Given the description of an element on the screen output the (x, y) to click on. 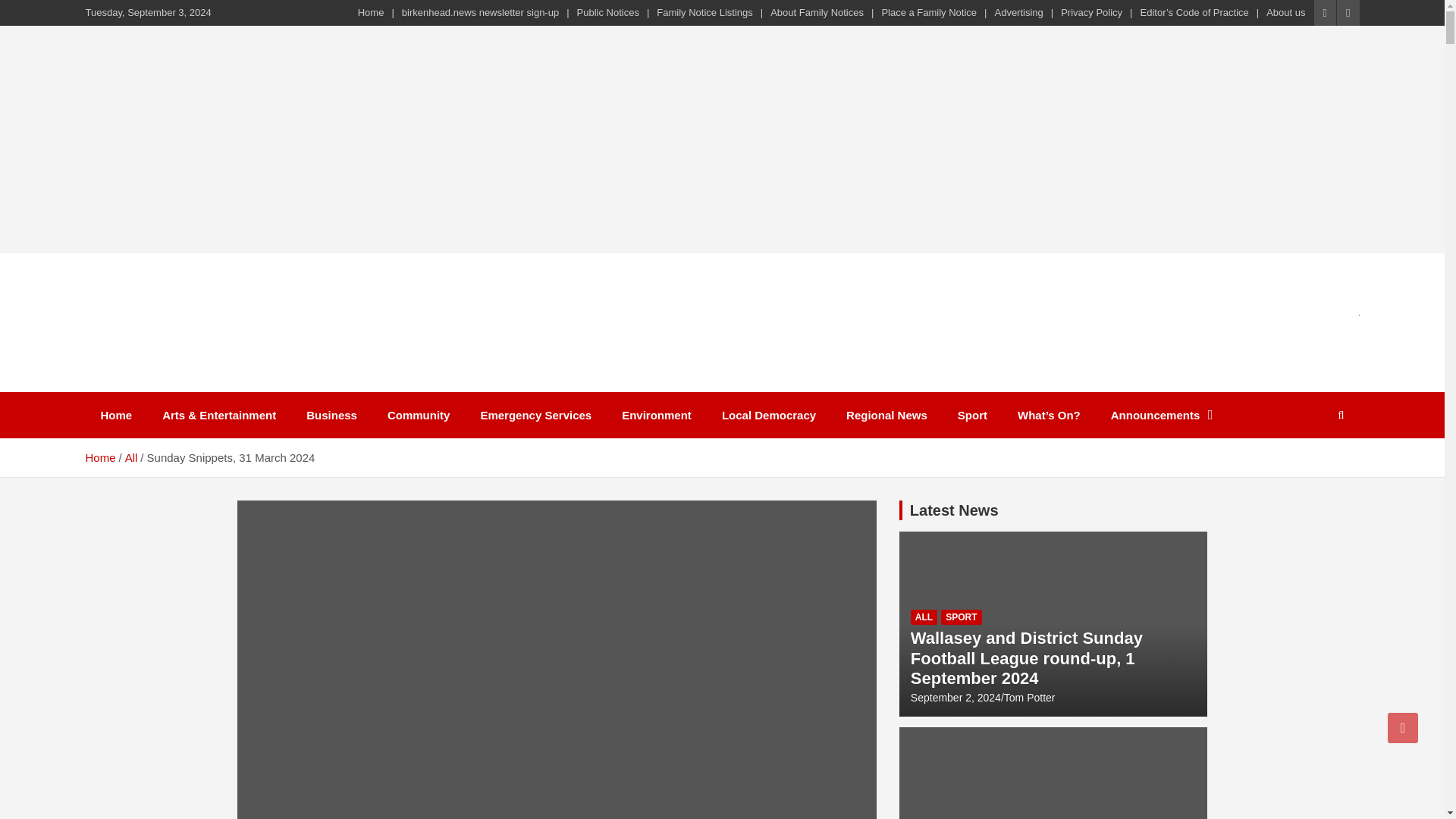
Local Democracy (768, 415)
birkenhead.news newsletter sign-up (480, 12)
About Family Notices (816, 12)
Place a Family Notice (928, 12)
Sport (972, 415)
Public Notices (607, 12)
Regional News (886, 415)
Privacy Policy (1091, 12)
Home (371, 12)
About us (1285, 12)
